Given the description of an element on the screen output the (x, y) to click on. 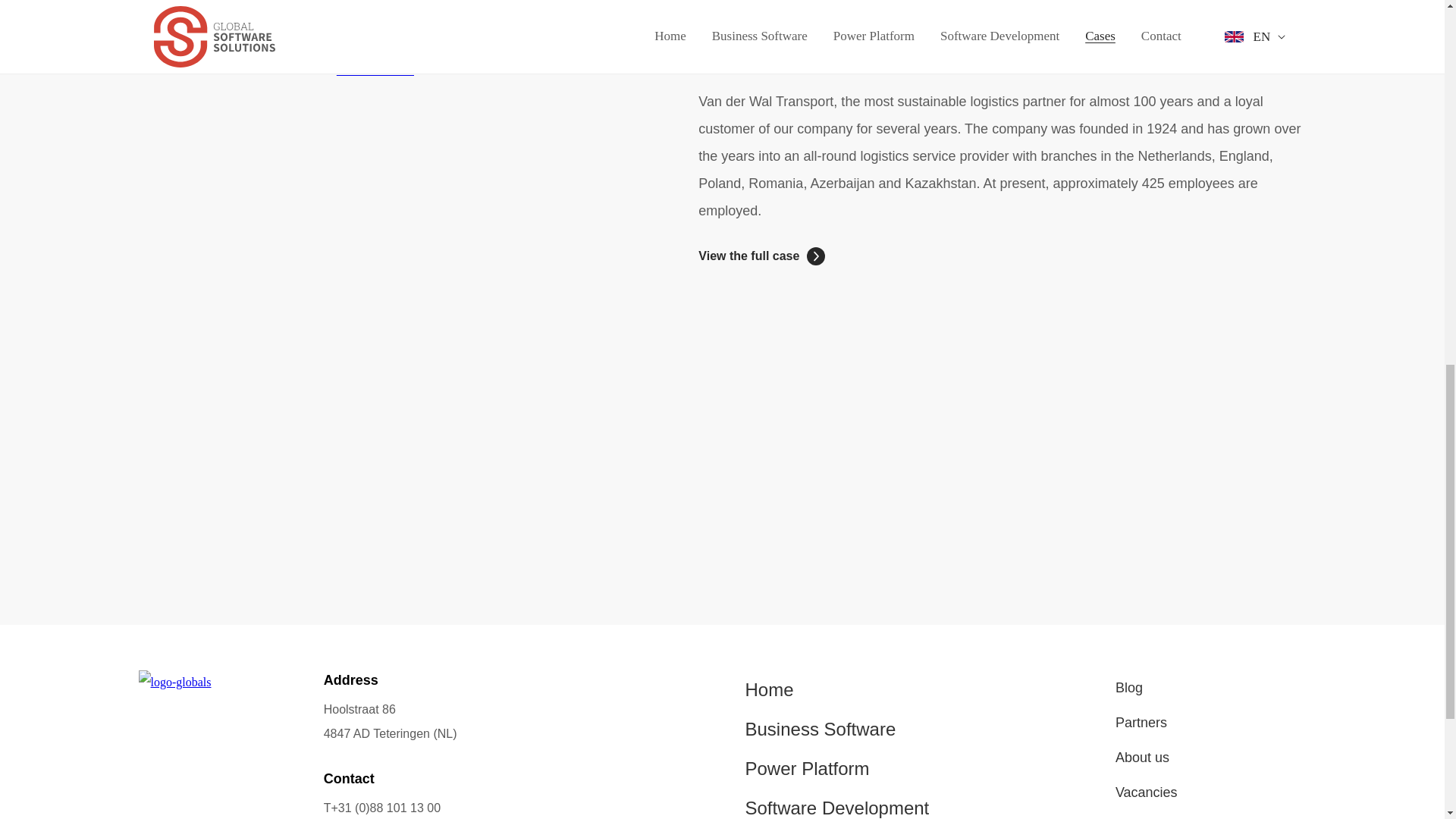
Blog (1146, 687)
Power Platform (836, 768)
Business Software (836, 729)
About us (1146, 757)
Vacancies (1146, 791)
Business Software (836, 729)
Home (836, 690)
Software Development (836, 803)
Partners (1146, 722)
Home (836, 690)
